Given the description of an element on the screen output the (x, y) to click on. 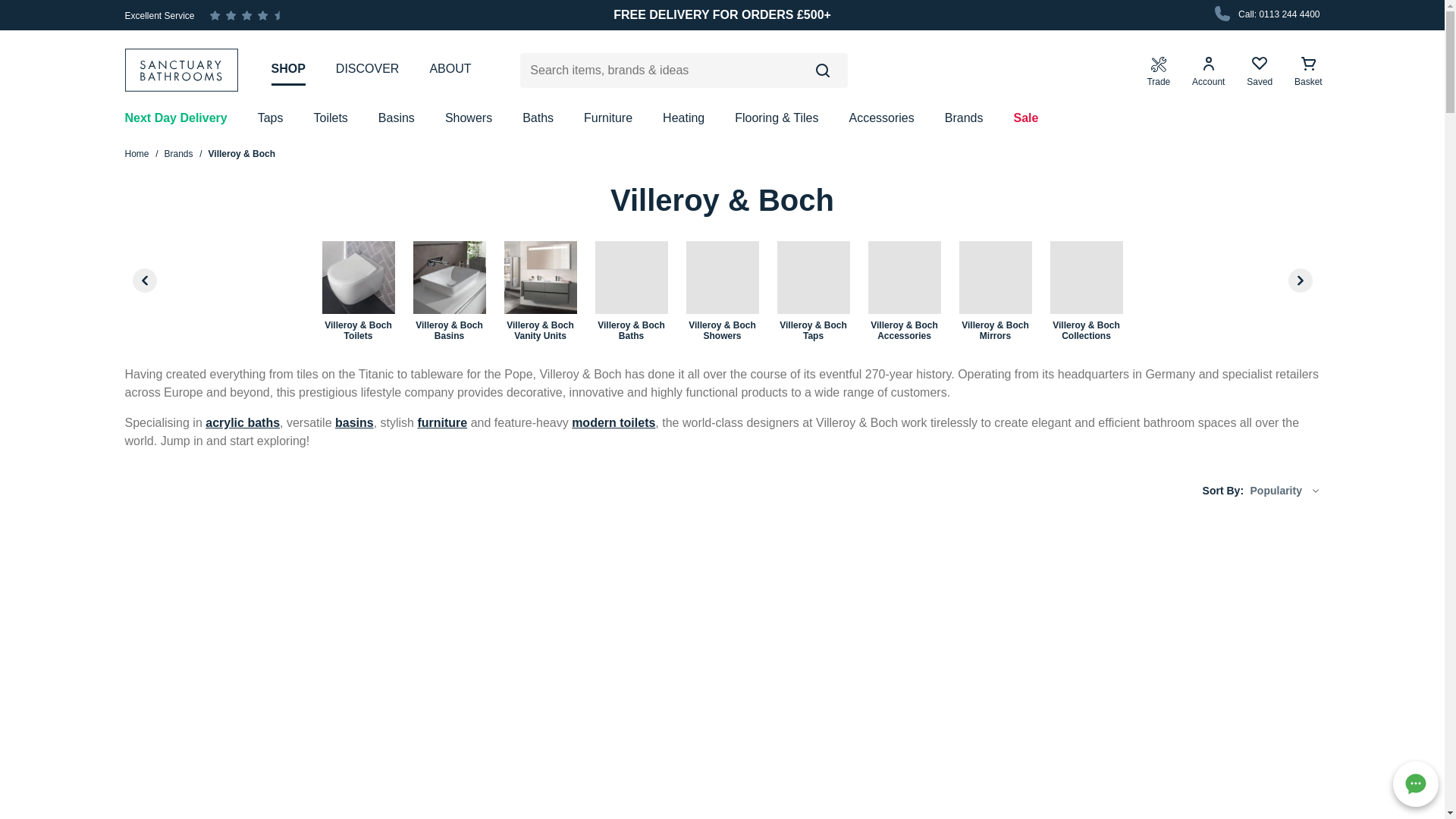
Sanctuary Bathrooms (187, 69)
Call: 0113 244 4400 (1265, 14)
Taps (270, 118)
Basket (1307, 71)
Basket (1307, 71)
Account (1208, 71)
Trade (1158, 71)
ABOUT (449, 68)
Saved (1259, 71)
Saved Items (1259, 71)
